Given the description of an element on the screen output the (x, y) to click on. 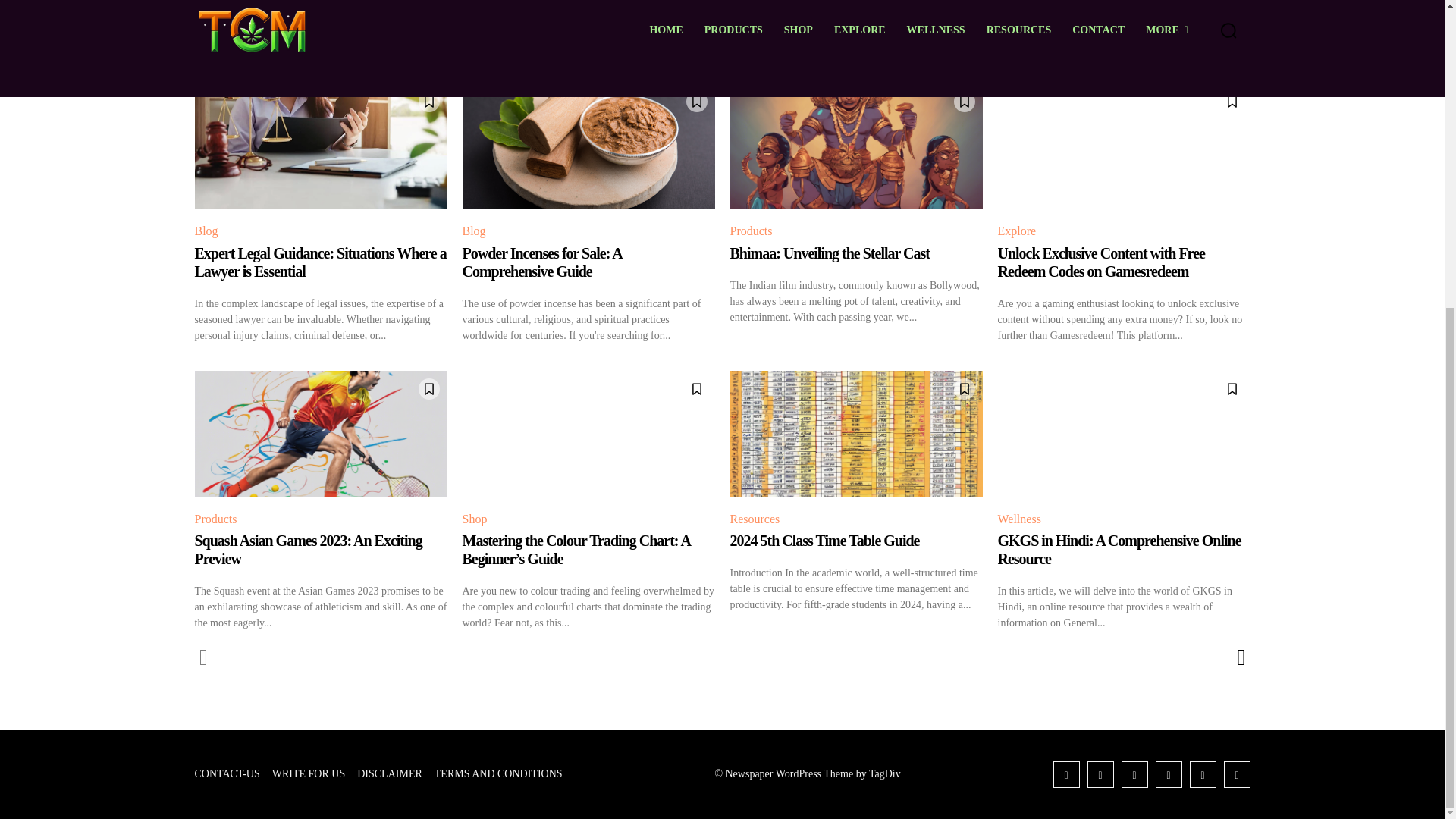
Bhimaa: Unveiling the Stellar Cast (855, 146)
Powder Incenses for Sale: A Comprehensive Guide (543, 262)
Squash Asian Games 2023: An Exciting Preview (319, 434)
2024 5th Class Time Table Guide (855, 434)
Squash Asian Games 2023: An Exciting Preview (307, 549)
Bhimaa: Unveiling the Stellar Cast (828, 252)
Powder Incenses for Sale: A Comprehensive Guide (588, 146)
Blog (207, 231)
